Given the description of an element on the screen output the (x, y) to click on. 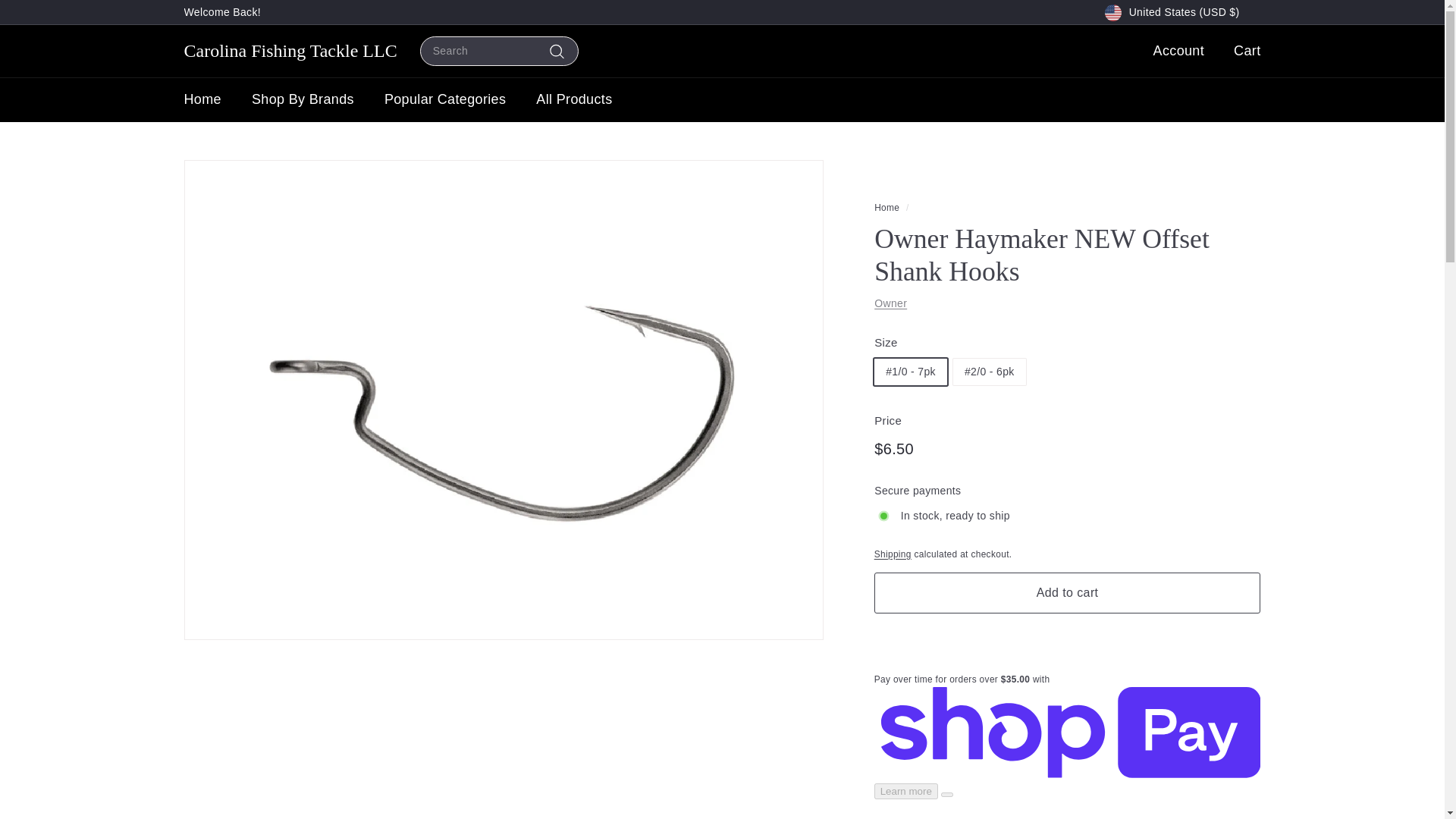
Back to the frontpage (887, 207)
